Given the description of an element on the screen output the (x, y) to click on. 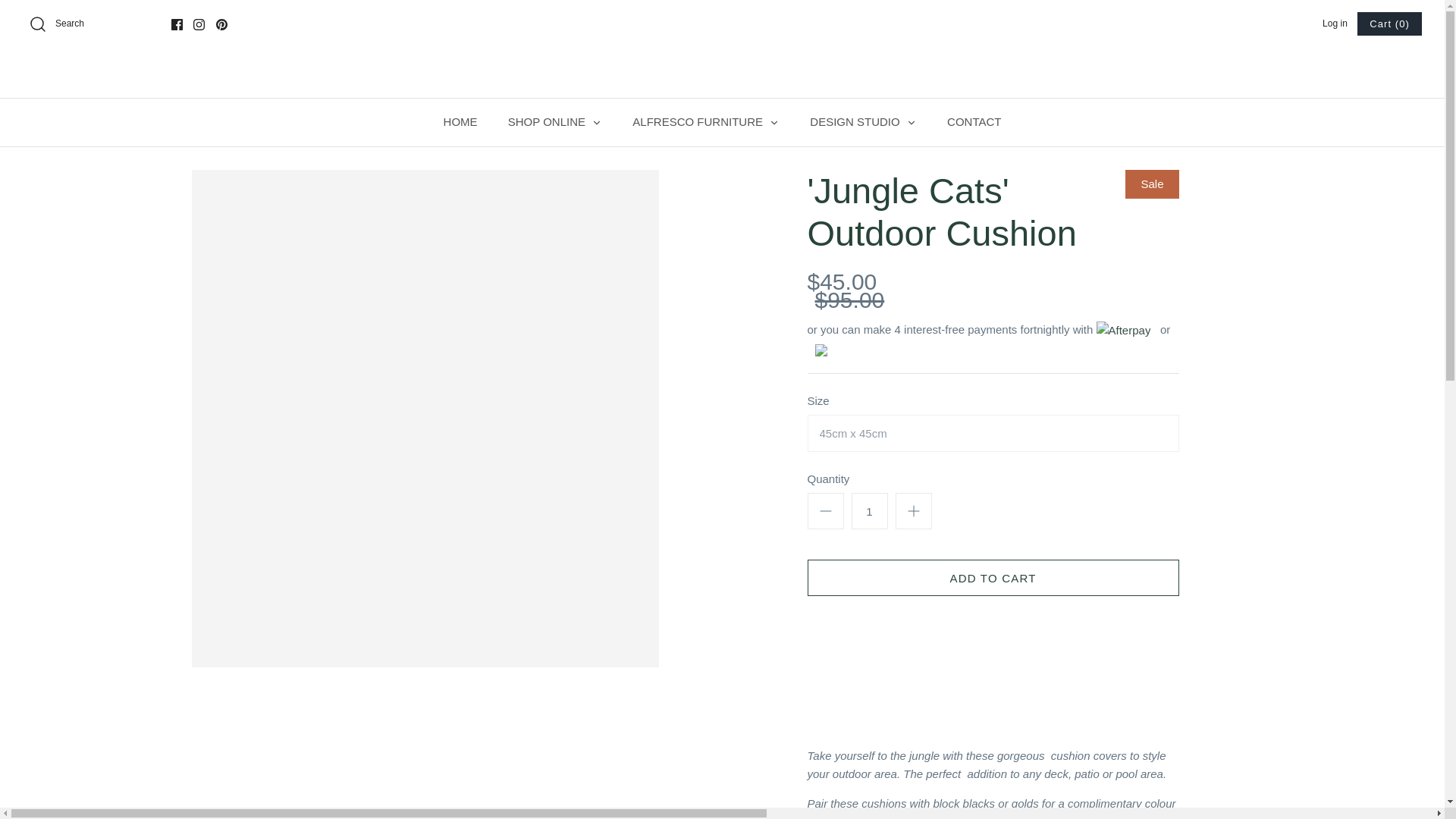
Instagram (199, 24)
Terrace Outdoor Living (823, 73)
SHOP ONLINE Toggle menu (555, 122)
Plus (912, 511)
Minus (824, 511)
DESIGN STUDIO Toggle menu (863, 122)
Add to Cart (991, 577)
Toggle menu (773, 122)
CONTACT (973, 122)
Facebook (177, 24)
